Given the description of an element on the screen output the (x, y) to click on. 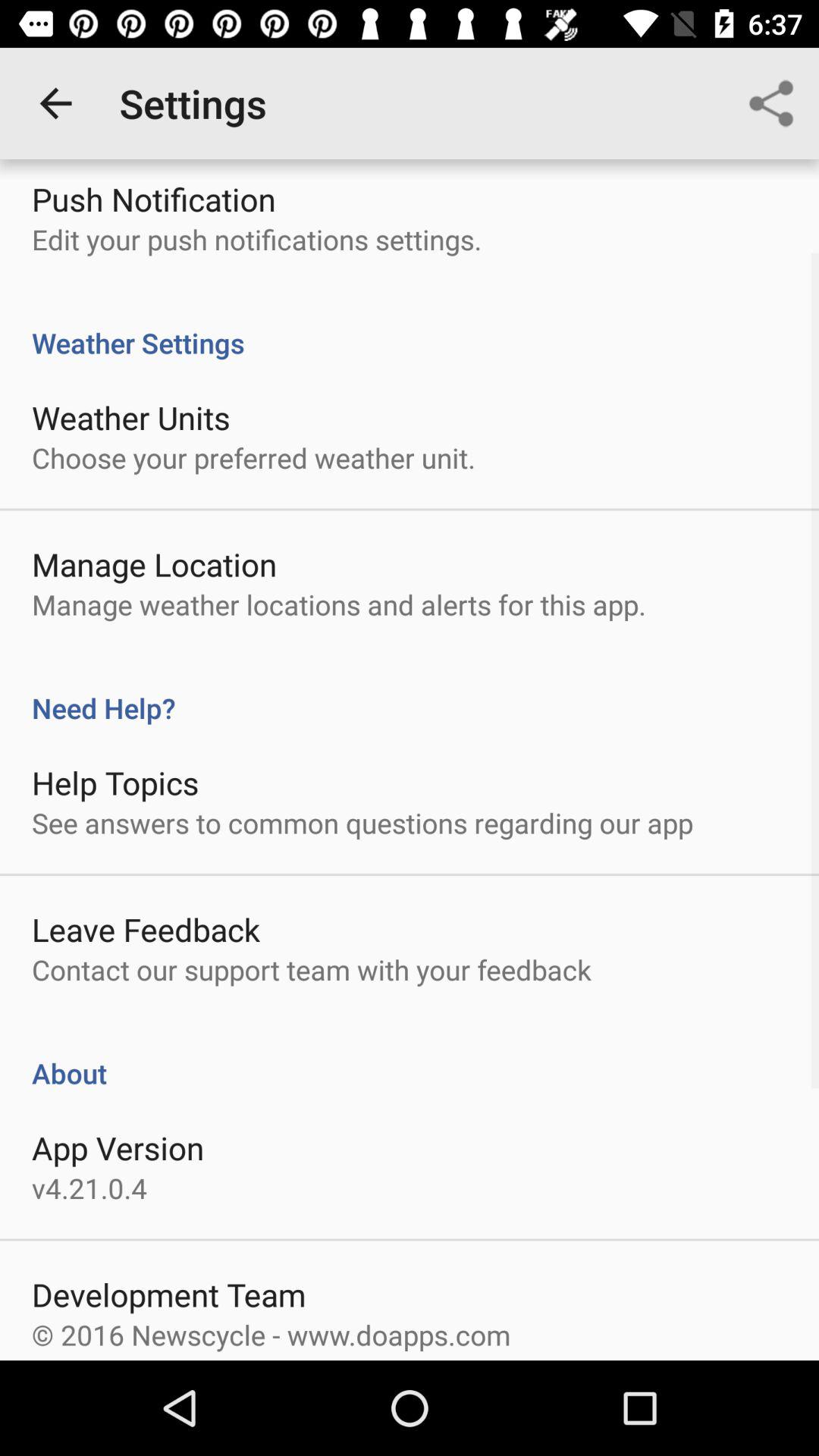
open icon next to settings  item (55, 103)
